Given the description of an element on the screen output the (x, y) to click on. 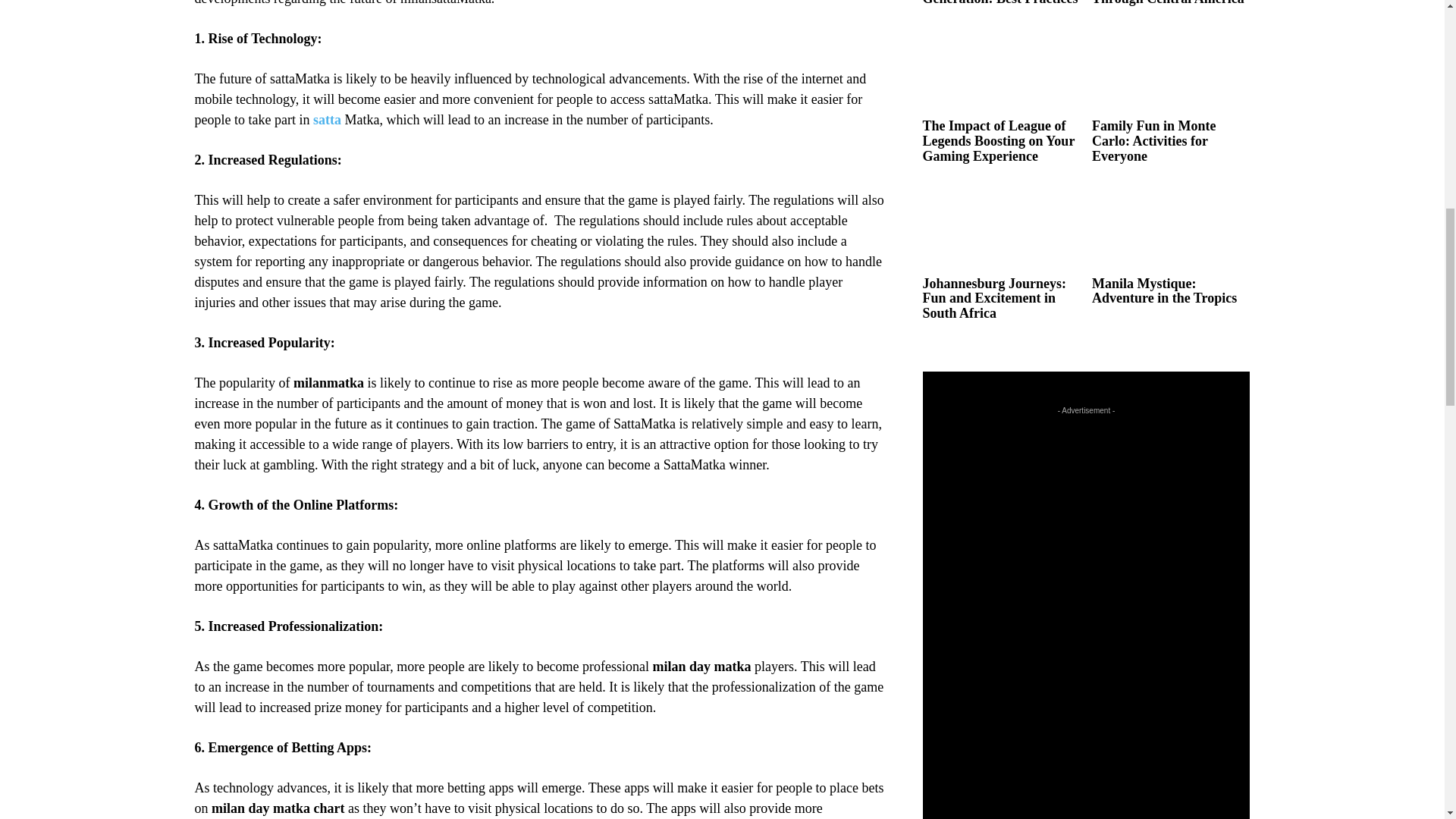
A Guide to Backpacking Through Central America (1168, 2)
Real Estate Lead Generation: Best Practices (999, 2)
